Given the description of an element on the screen output the (x, y) to click on. 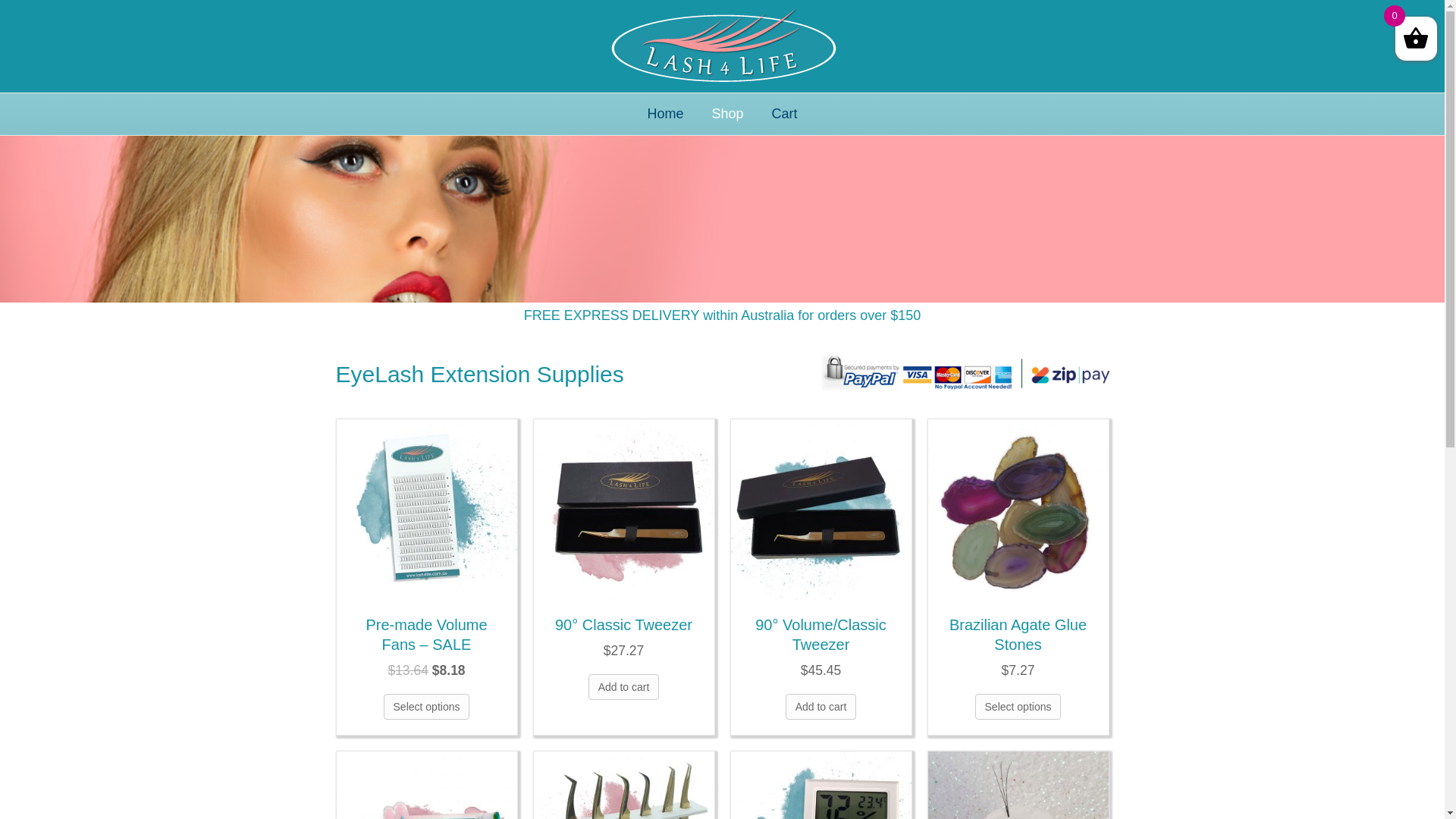
Brazilian Agate Glue Stones Element type: text (1017, 634)
Select options Element type: text (426, 706)
Home Element type: text (664, 113)
Cart Element type: text (784, 113)
Shop Element type: text (727, 113)
Select options Element type: text (1018, 706)
Add to cart Element type: text (820, 706)
Brazilian Agate Glue Stones Element type: hover (1018, 508)
Add to cart Element type: text (623, 686)
